Given the description of an element on the screen output the (x, y) to click on. 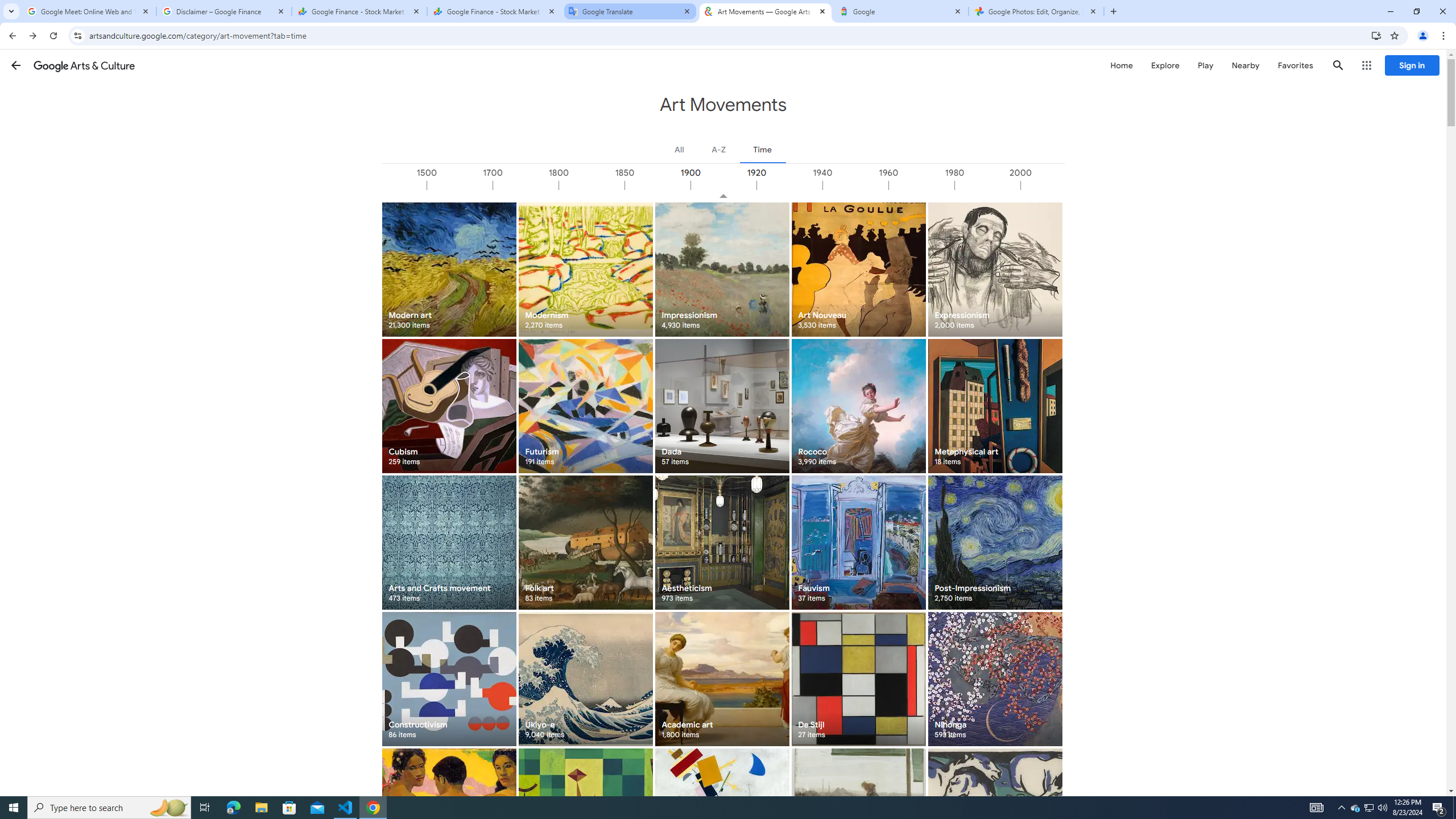
2000 (1052, 185)
Time (761, 148)
Google Arts & Culture (84, 65)
Arts and Crafts movement 473 items (448, 542)
Google (901, 11)
Explore (1164, 65)
Aestheticism 973 items (722, 542)
Dada 57 items (722, 406)
Expressionism 2,000 items (994, 269)
1000 (392, 185)
